Given the description of an element on the screen output the (x, y) to click on. 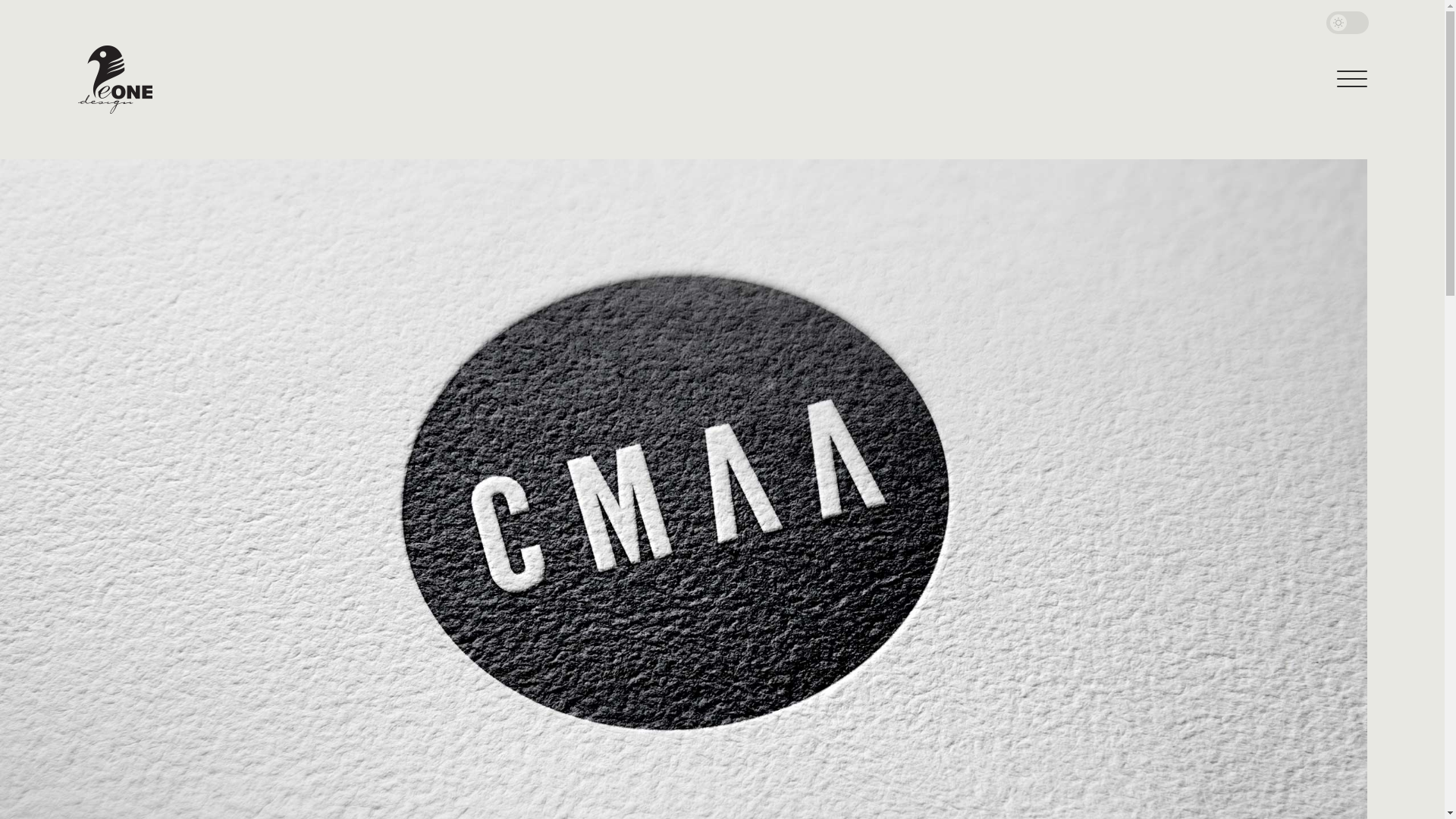
Send Element type: text (53, 12)
